Given the description of an element on the screen output the (x, y) to click on. 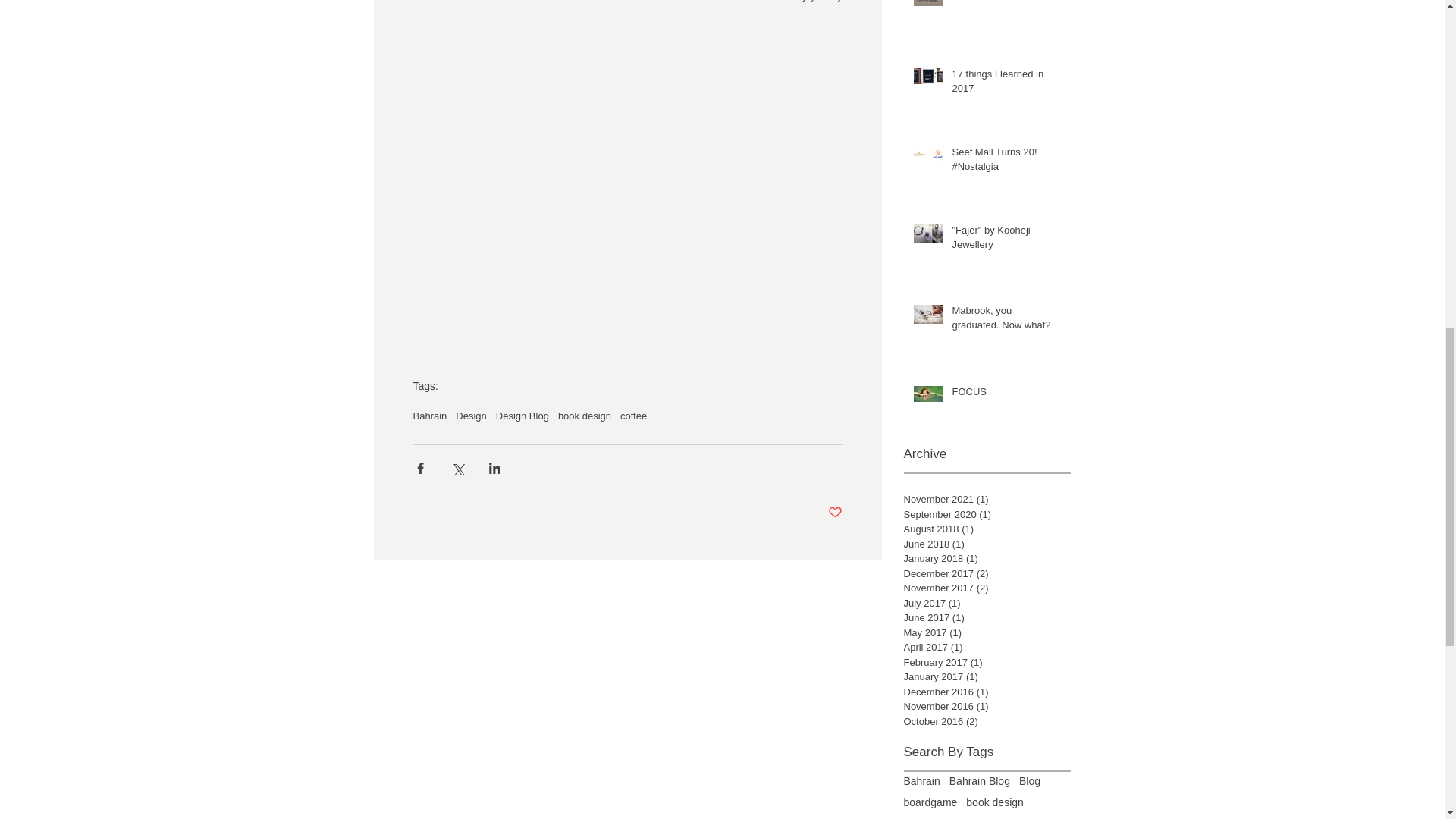
Design Blog (522, 415)
coffee (633, 415)
FOCUS (1006, 394)
Bahrain (429, 415)
book design (584, 415)
Post not marked as liked (835, 512)
Design (470, 415)
The Raven's Nest (1006, 4)
Mabrook, you graduated. Now what? (1006, 320)
17 things I learned in 2017 (1006, 83)
"Fajer" by Kooheji Jewellery (1006, 240)
